Given the description of an element on the screen output the (x, y) to click on. 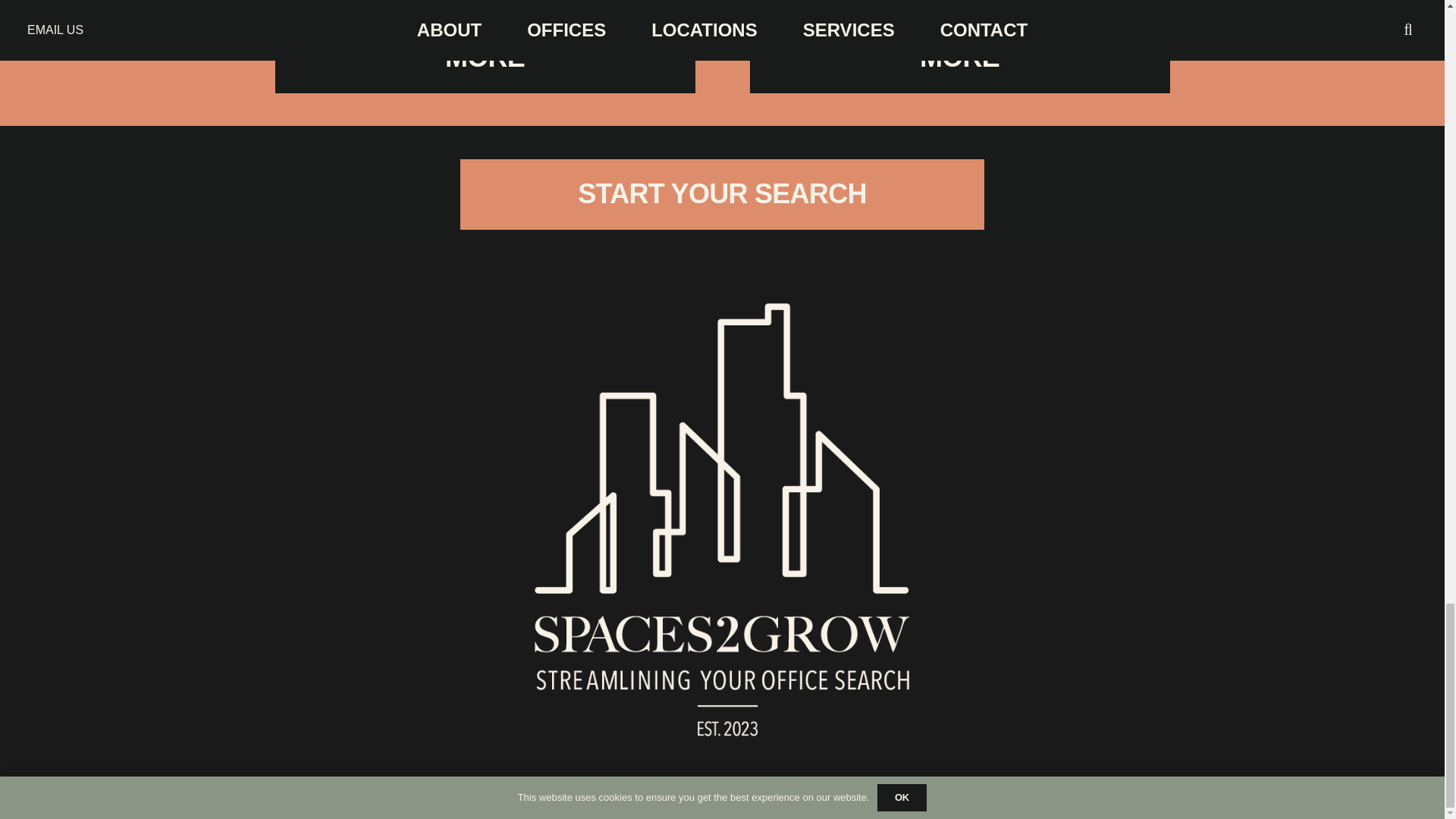
START YOUR SEARCH (722, 194)
MORE (959, 58)
MORE (484, 58)
